Given the description of an element on the screen output the (x, y) to click on. 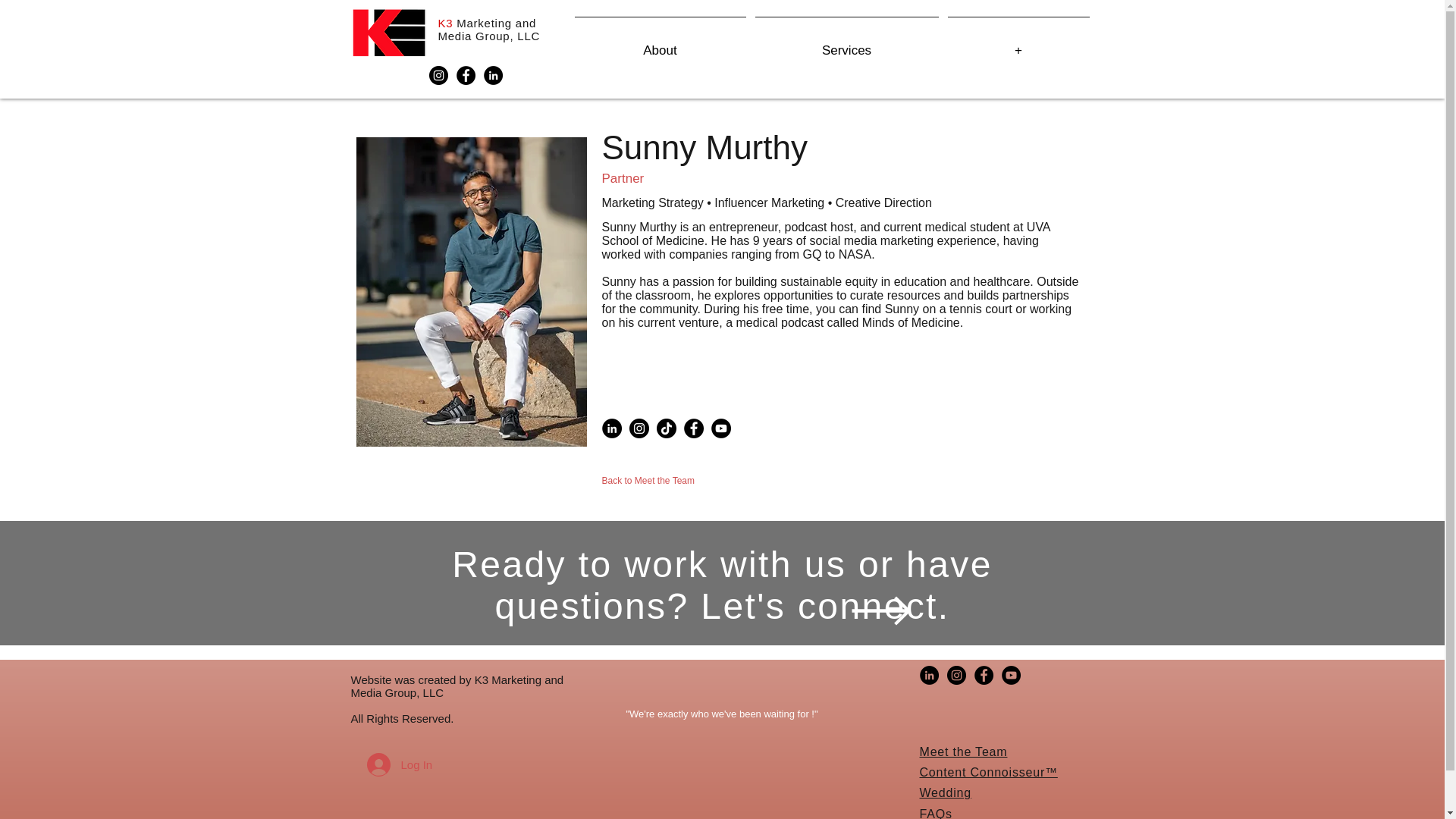
Back to Meet the Team (648, 480)
K3 Marketing and (487, 22)
Media Group, LLC (489, 35)
Ready to work with us or have questions? Let's connect. (721, 585)
FAQs (935, 813)
Wedding (944, 792)
Meet the Team (962, 751)
Log In (389, 764)
